Given the description of an element on the screen output the (x, y) to click on. 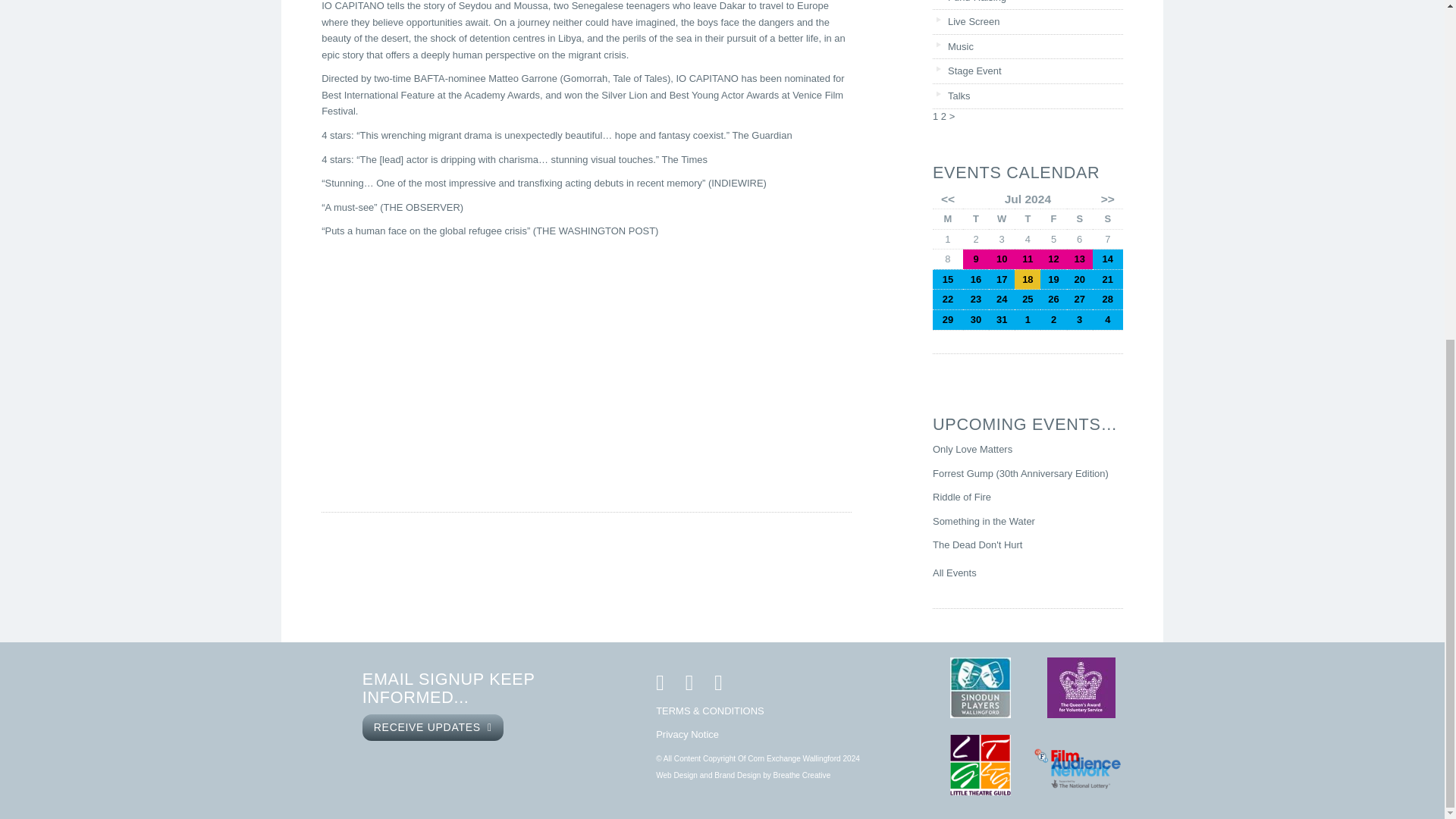
Measure for Measure by William Shakespeare (1053, 258)
Measure for Measure by William Shakespeare (1027, 258)
Measure for Measure by William Shakespeare (1001, 258)
